Given the description of an element on the screen output the (x, y) to click on. 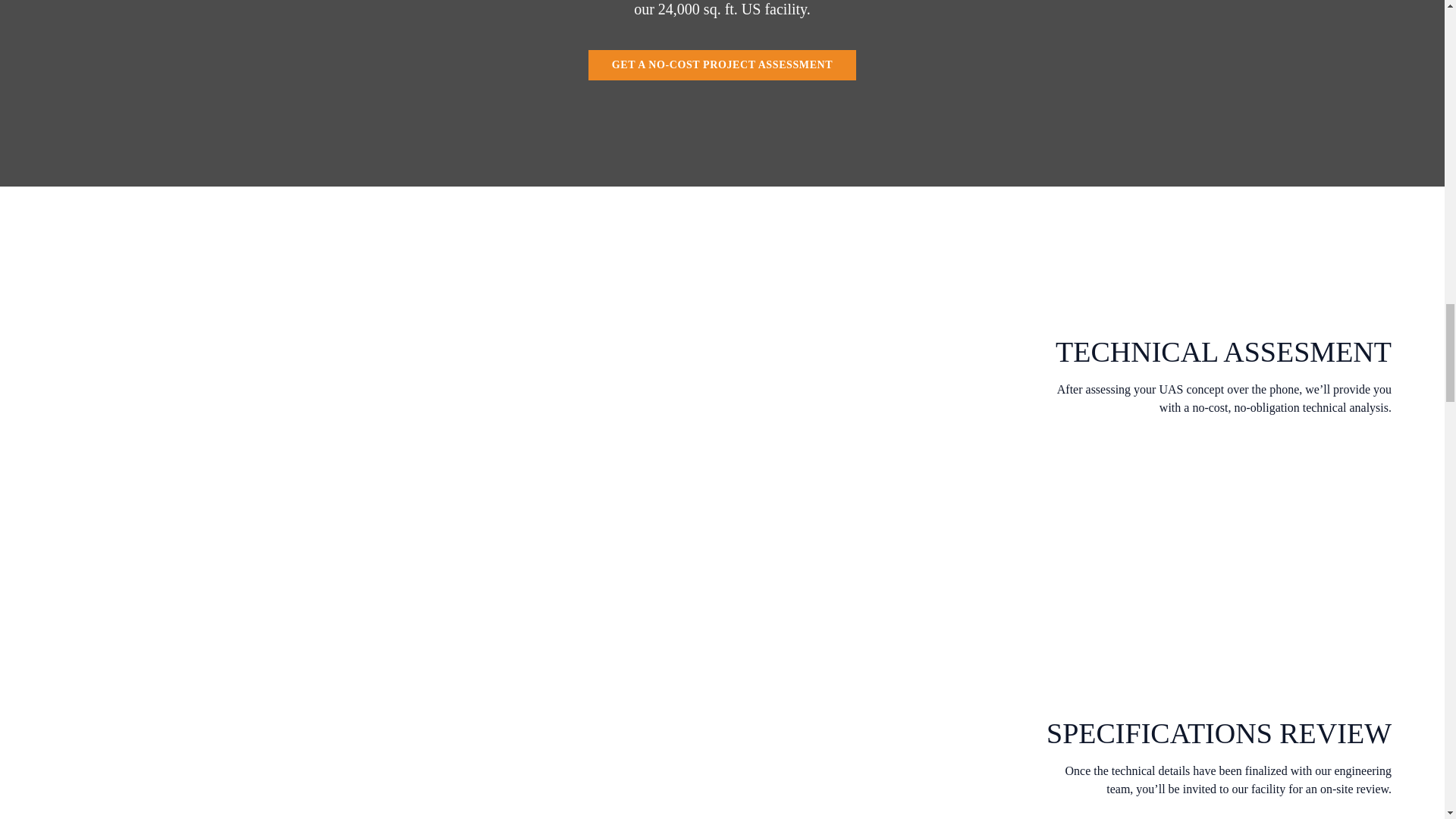
GET A NO-COST PROJECT ASSESSMENT (722, 64)
